Given the description of an element on the screen output the (x, y) to click on. 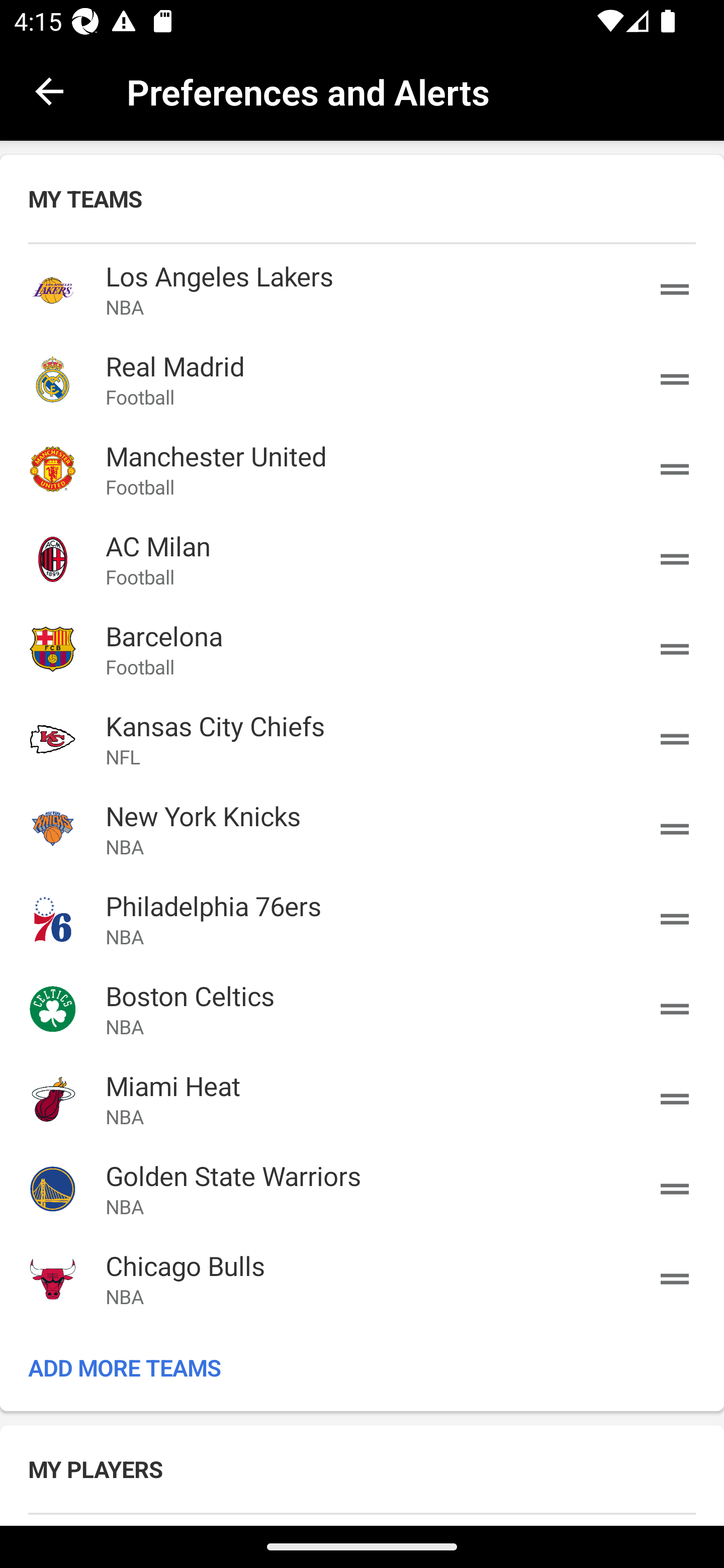
back.button (49, 90)
AC Milan AC Milan AC Milan Football Football (362, 558)
Barcelona Barcelona Barcelona Football Football (362, 648)
Miami Heat Miami Heat Miami Heat NBA NBA (362, 1098)
Chicago Bulls Chicago Bulls Chicago Bulls NBA NBA (362, 1278)
ADD MORE TEAMS (362, 1367)
